Given the description of an element on the screen output the (x, y) to click on. 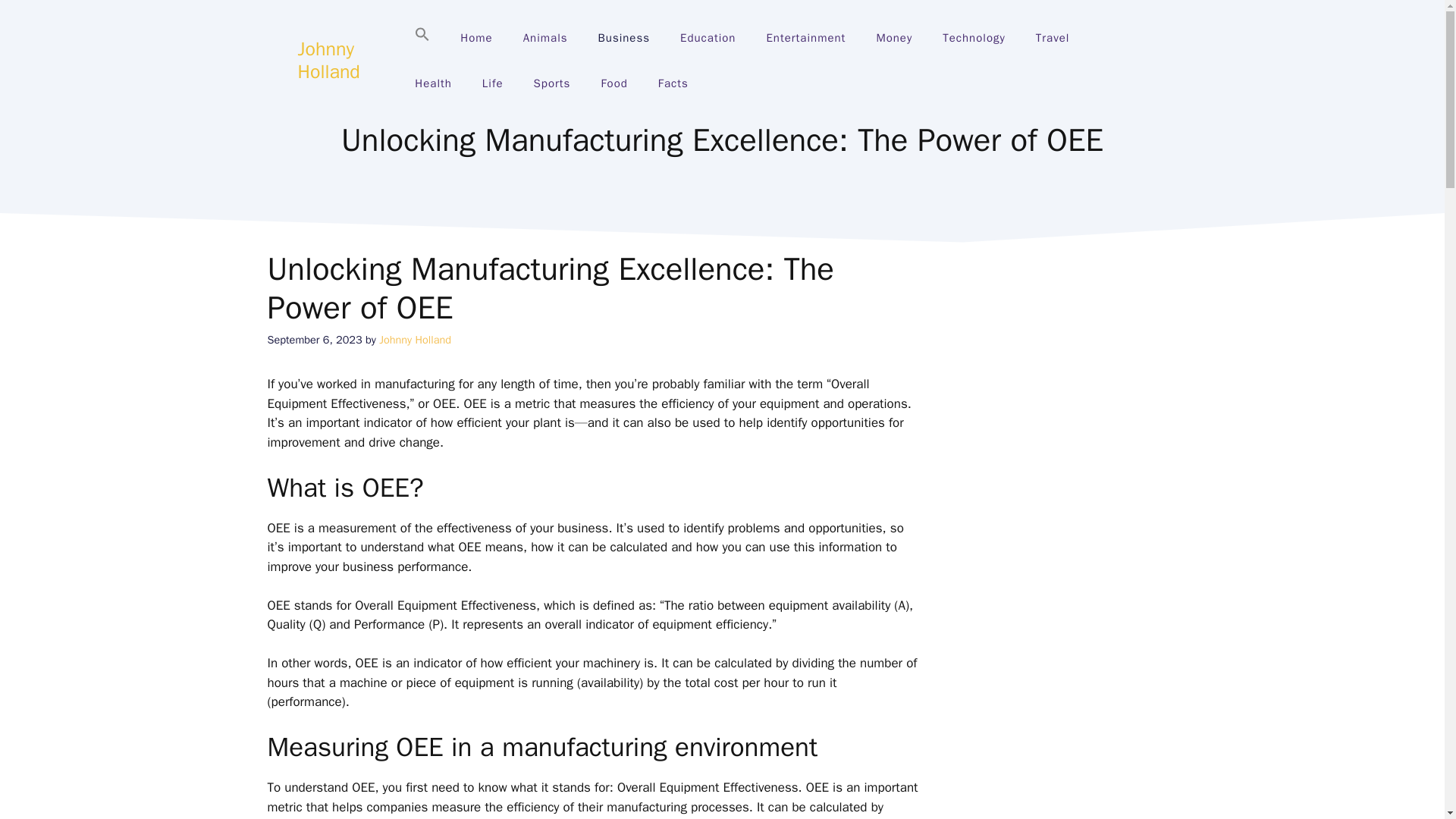
Facts (673, 83)
Johnny Holland (328, 59)
Money (893, 37)
Entertainment (805, 37)
Life (492, 83)
Business (624, 37)
Animals (545, 37)
Food (613, 83)
Technology (973, 37)
Education (708, 37)
